Given the description of an element on the screen output the (x, y) to click on. 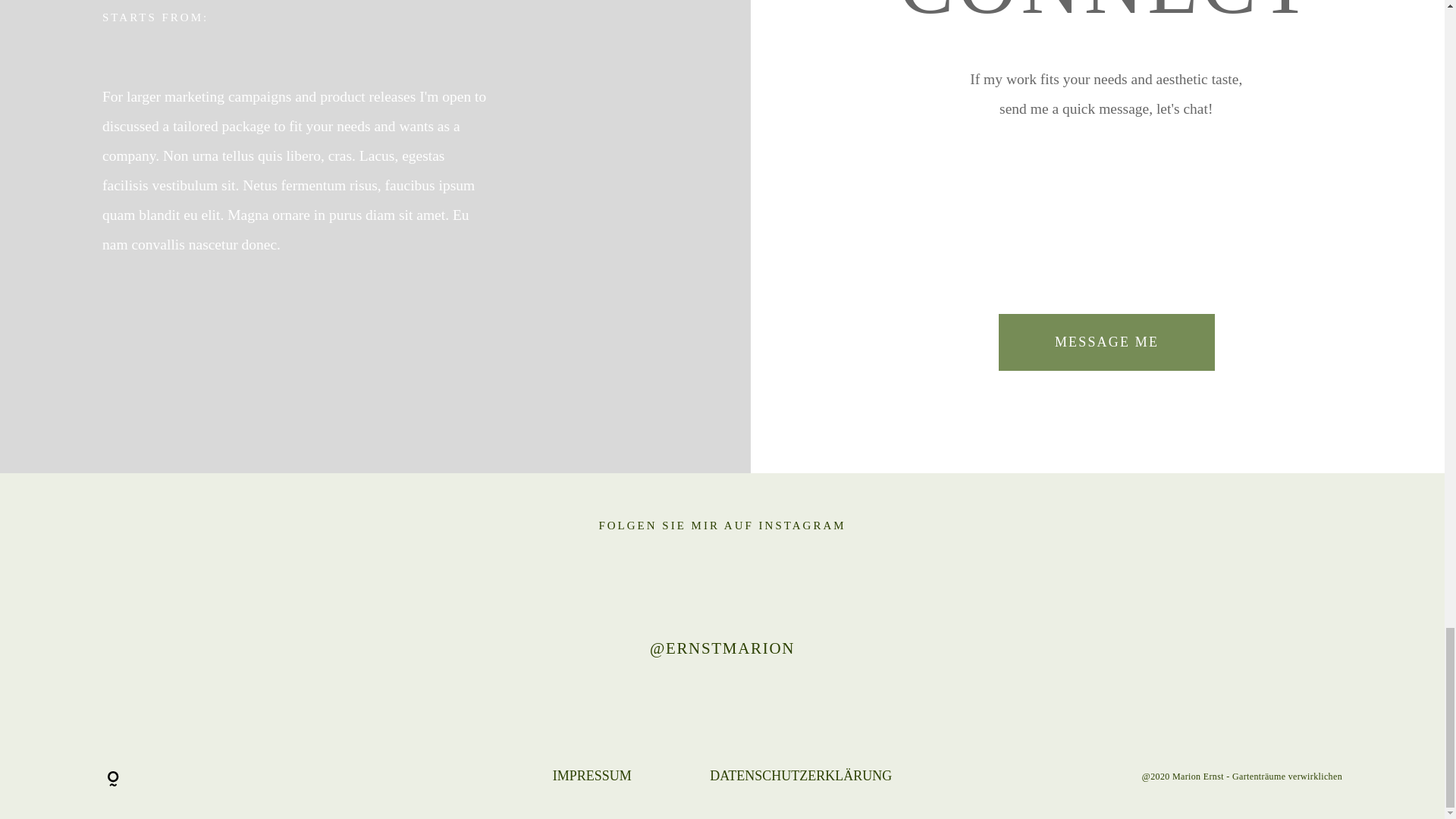
MESSAGE ME (1106, 342)
Sorry, your browser does not support inline SVG. (112, 779)
Sorry, your browser does not support inline SVG. (287, 776)
IMPRESSUM (592, 775)
